Given the description of an element on the screen output the (x, y) to click on. 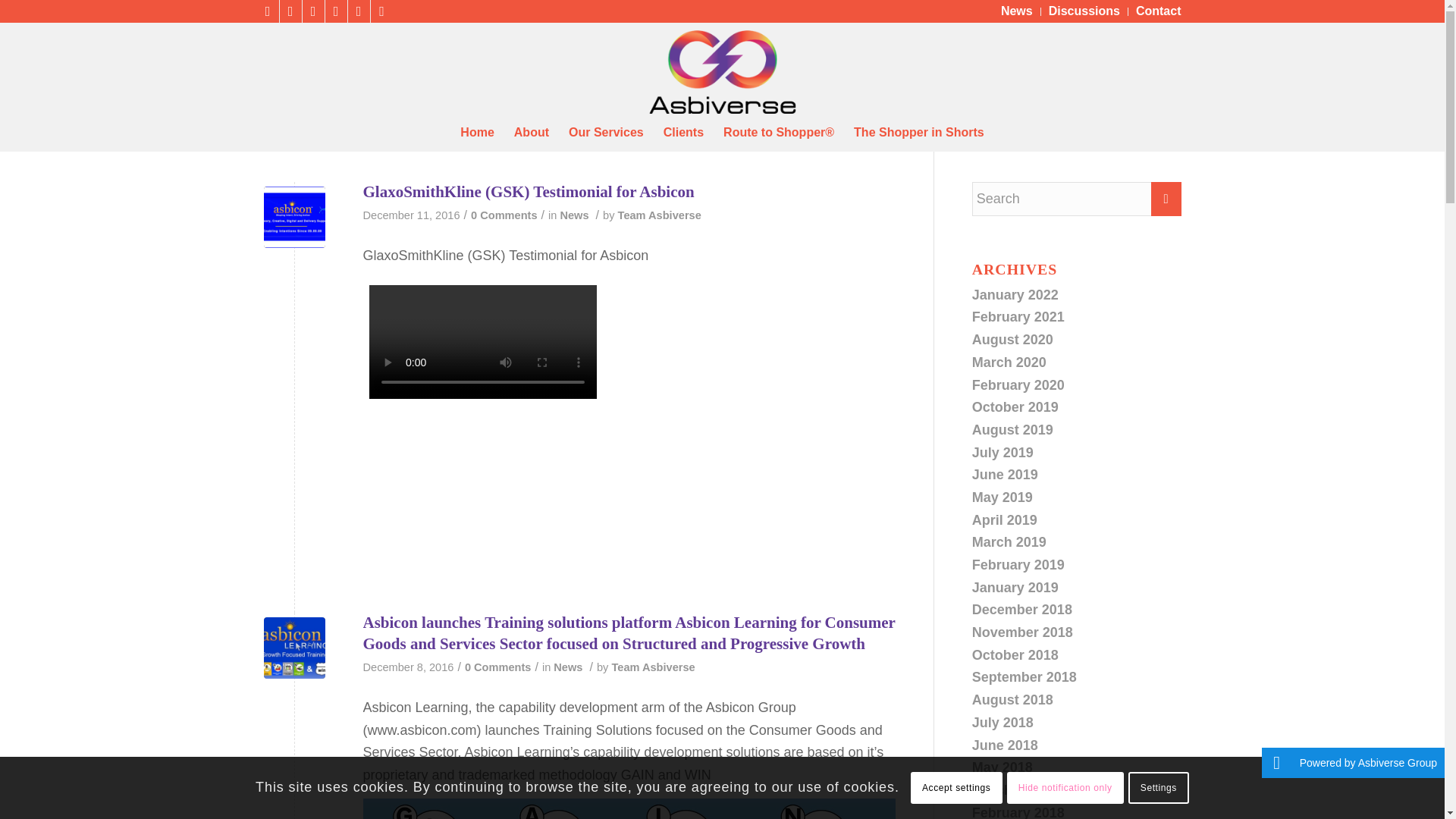
Asbicon (293, 217)
Posts by Team Asbiverse (659, 215)
Youtube (358, 11)
News (1016, 11)
Clients (683, 132)
Contact (1157, 11)
Asbicon GAIN and WIN (293, 647)
Discussions (1083, 11)
The Shopper in Shorts (919, 132)
Facebook (290, 11)
LinkedIn (312, 11)
Twitter (267, 11)
About (531, 132)
Instagram (335, 11)
Our Services (606, 132)
